Given the description of an element on the screen output the (x, y) to click on. 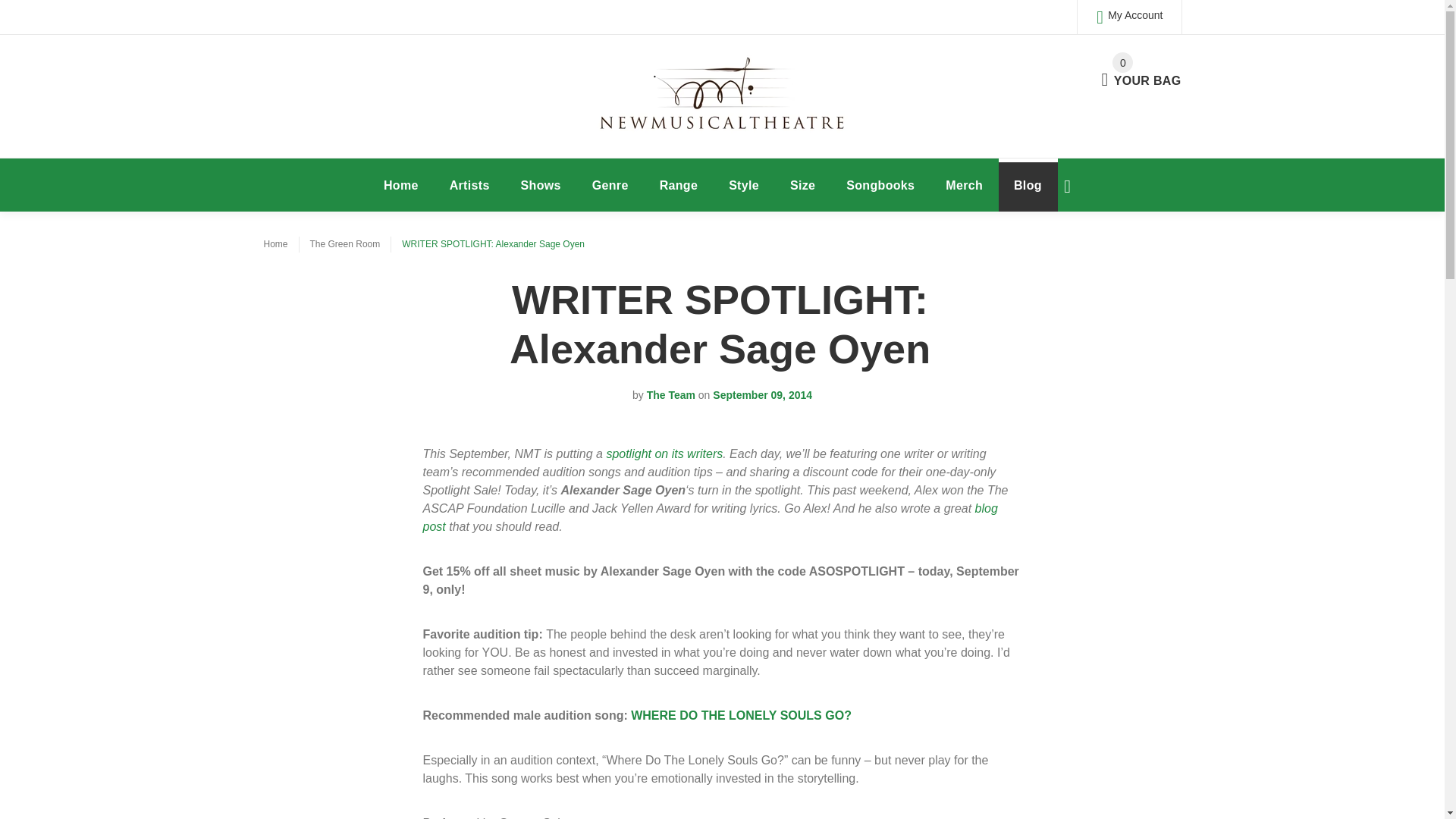
My Account (1128, 17)
Genre (610, 184)
blog post (1141, 71)
spotlight on its writers (710, 517)
Range (663, 453)
Artists (679, 184)
Home (469, 184)
Home (275, 244)
Songbooks (400, 184)
